Given the description of an element on the screen output the (x, y) to click on. 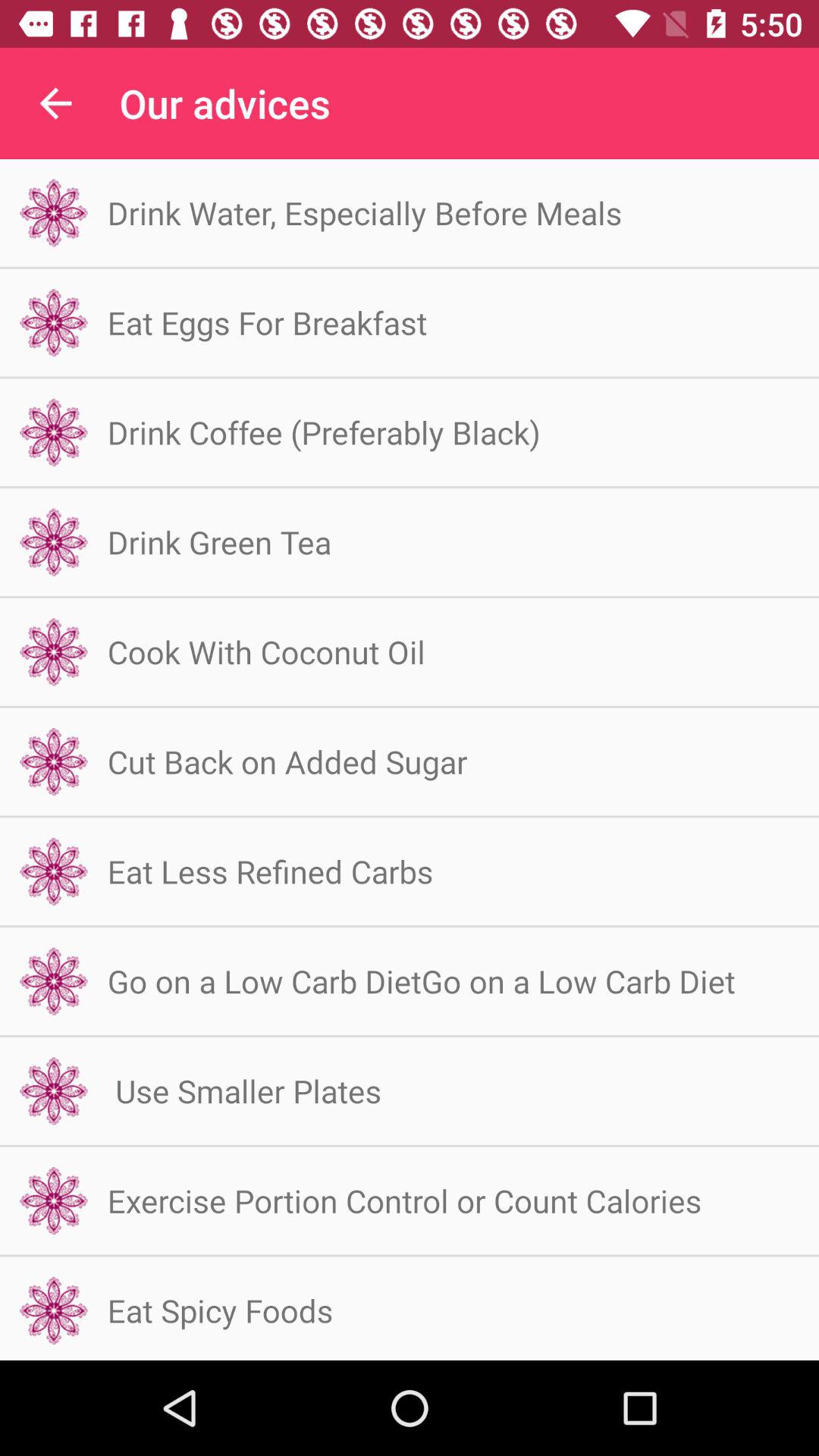
launch the icon below the drink green tea icon (266, 651)
